Given the description of an element on the screen output the (x, y) to click on. 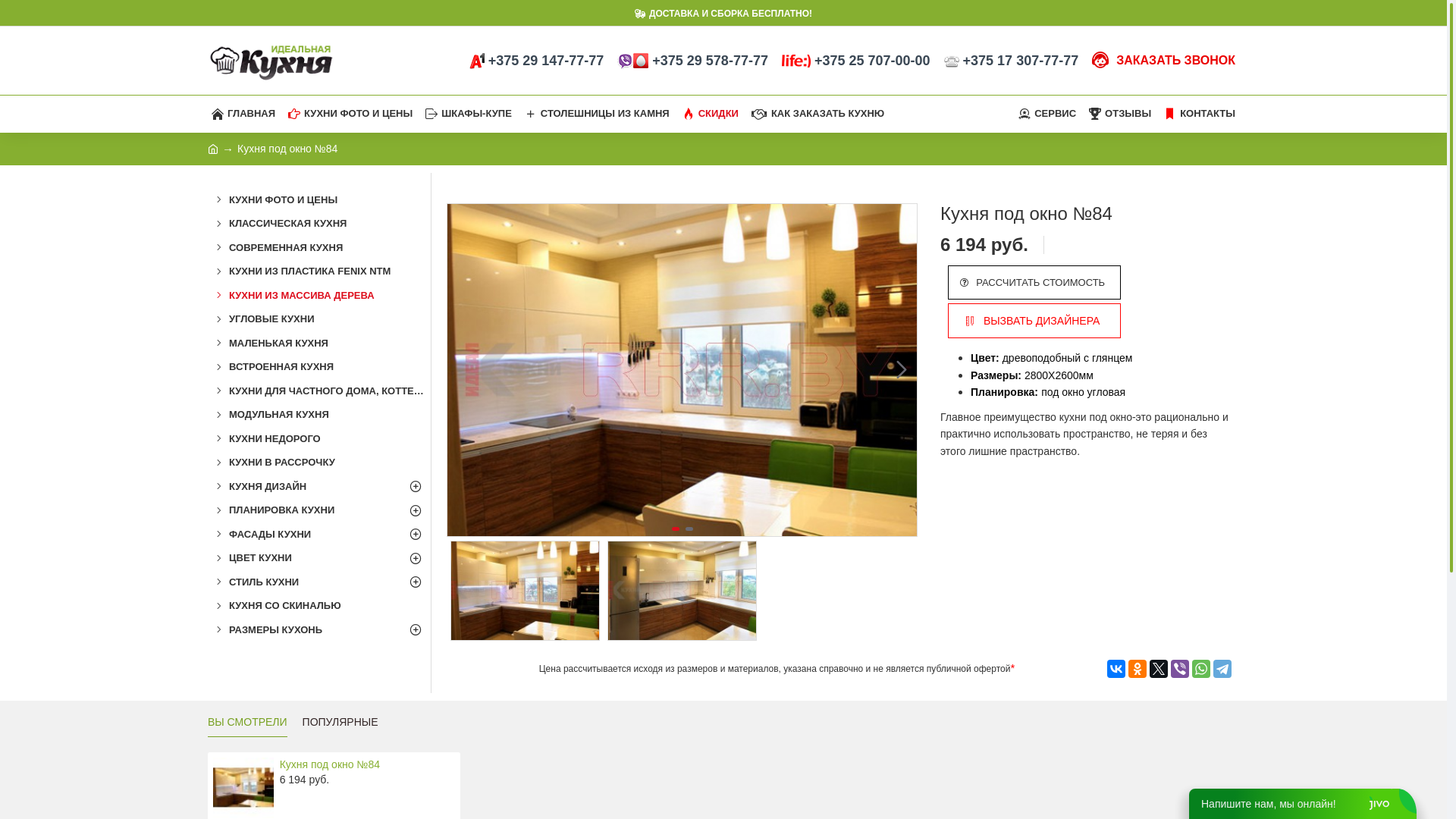
+375 25 707-00-00 Element type: text (856, 61)
+375 17 307-77-77 Element type: text (1011, 61)
Twitter Element type: hover (1158, 668)
+375 29 578-77-77 Element type: text (692, 61)
WhatsApp Element type: hover (1201, 668)
Telegram Element type: hover (1222, 668)
Viber Element type: hover (1179, 668)
+375 29 147-77-77 Element type: text (536, 61)
